Given the description of an element on the screen output the (x, y) to click on. 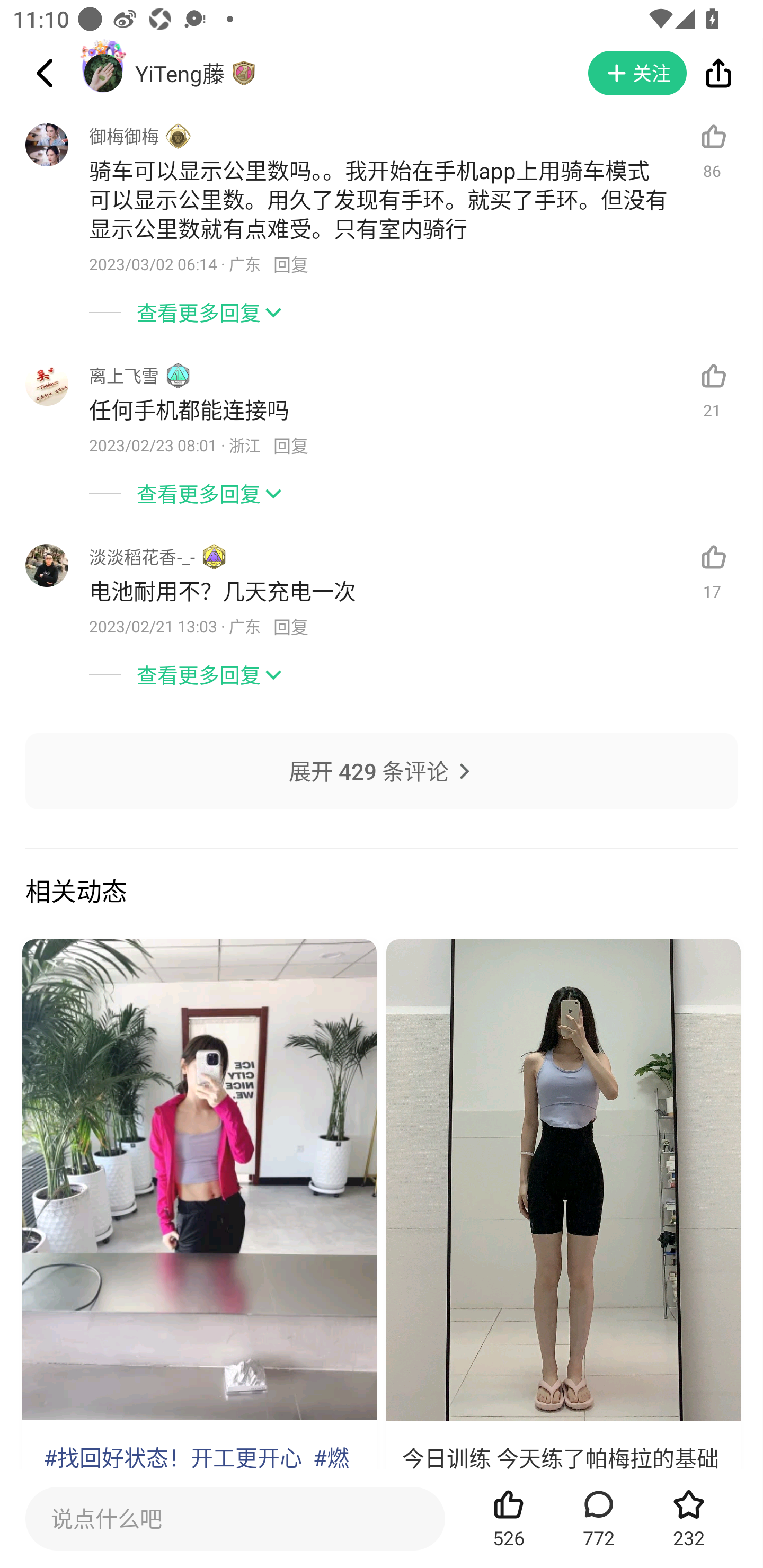
关注 (637, 72)
YiTeng藤 (179, 72)
御梅御梅 86  2023/03/02 06:14 · 广东 回复 (381, 191)
回复 (290, 263)
查看更多回复 (381, 303)
离上飞雪 21  2023/02/23 08:01 · 浙江 回复 (381, 394)
回复 (290, 445)
查看更多回复 (381, 485)
淡淡稻花香-_- 17  2023/02/21 13:03 · 广东 回复 (381, 576)
回复 (290, 626)
查看更多回复 (381, 666)
展开 429 条评论 (381, 790)
上山打不到小松鼠 24  (199, 1251)
_阿肆 53  (563, 1251)
526 (508, 1518)
772 (598, 1518)
232 (688, 1518)
说点什么吧 (234, 1518)
